Given the description of an element on the screen output the (x, y) to click on. 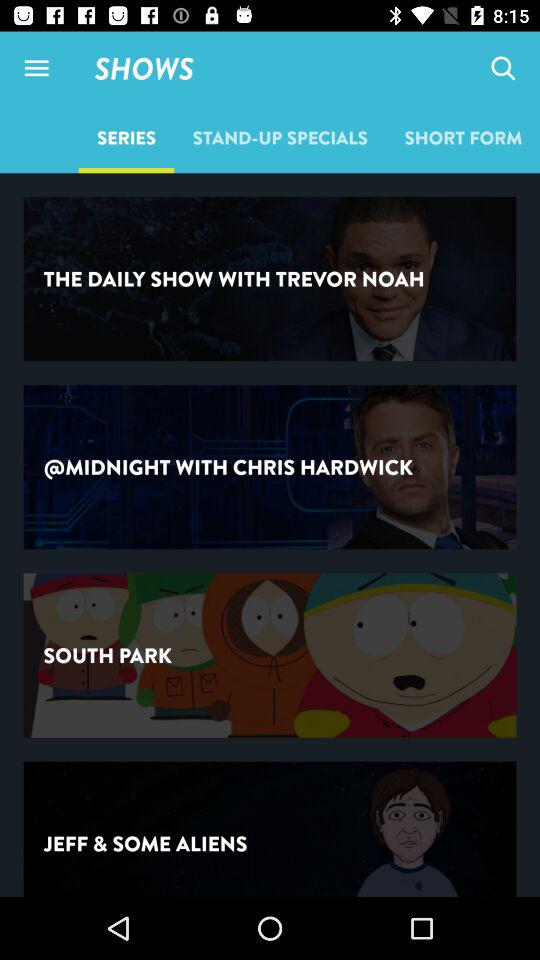
press icon to the left of the short form item (280, 137)
